Given the description of an element on the screen output the (x, y) to click on. 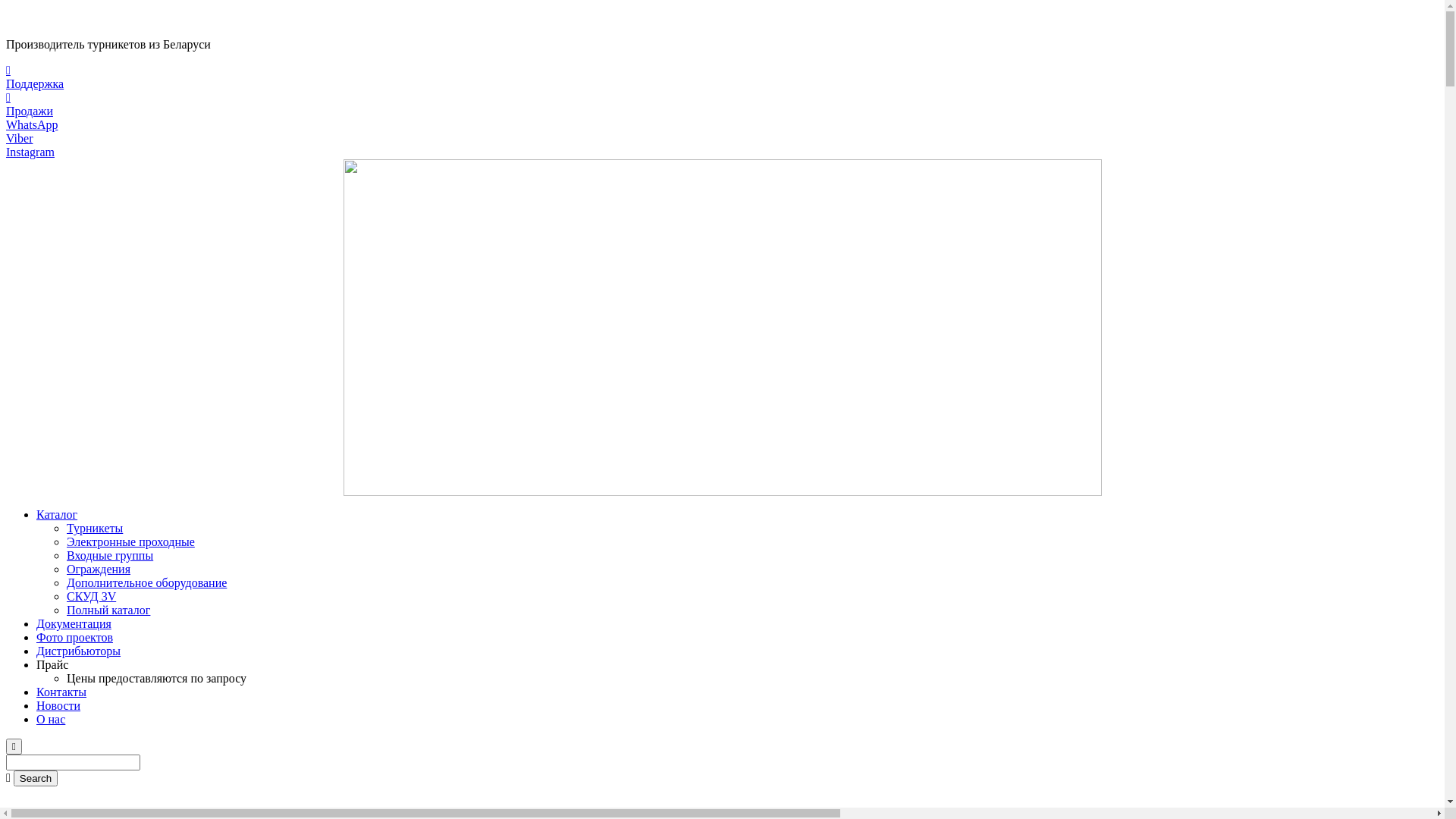
Viber Element type: text (722, 138)
WhatsApp Element type: text (722, 124)
Instagram Element type: text (722, 152)
Search Element type: text (35, 778)
+375 17 282 07 07 Element type: text (51, 18)
